Given the description of an element on the screen output the (x, y) to click on. 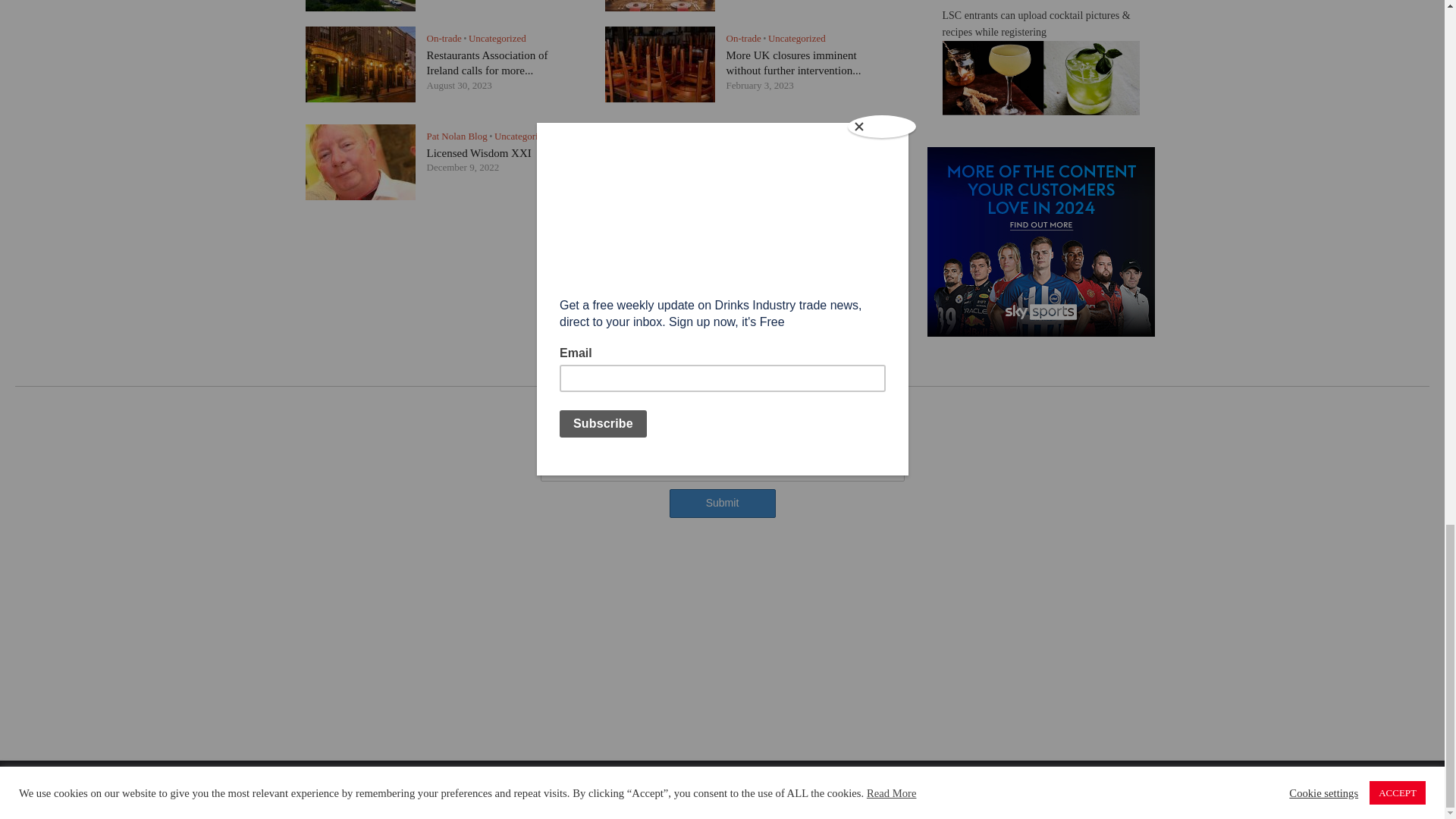
Licensed Wisdom XXI (478, 152)
Bars show largest October monthly sales growth (785, 160)
Submit (721, 502)
